Given the description of an element on the screen output the (x, y) to click on. 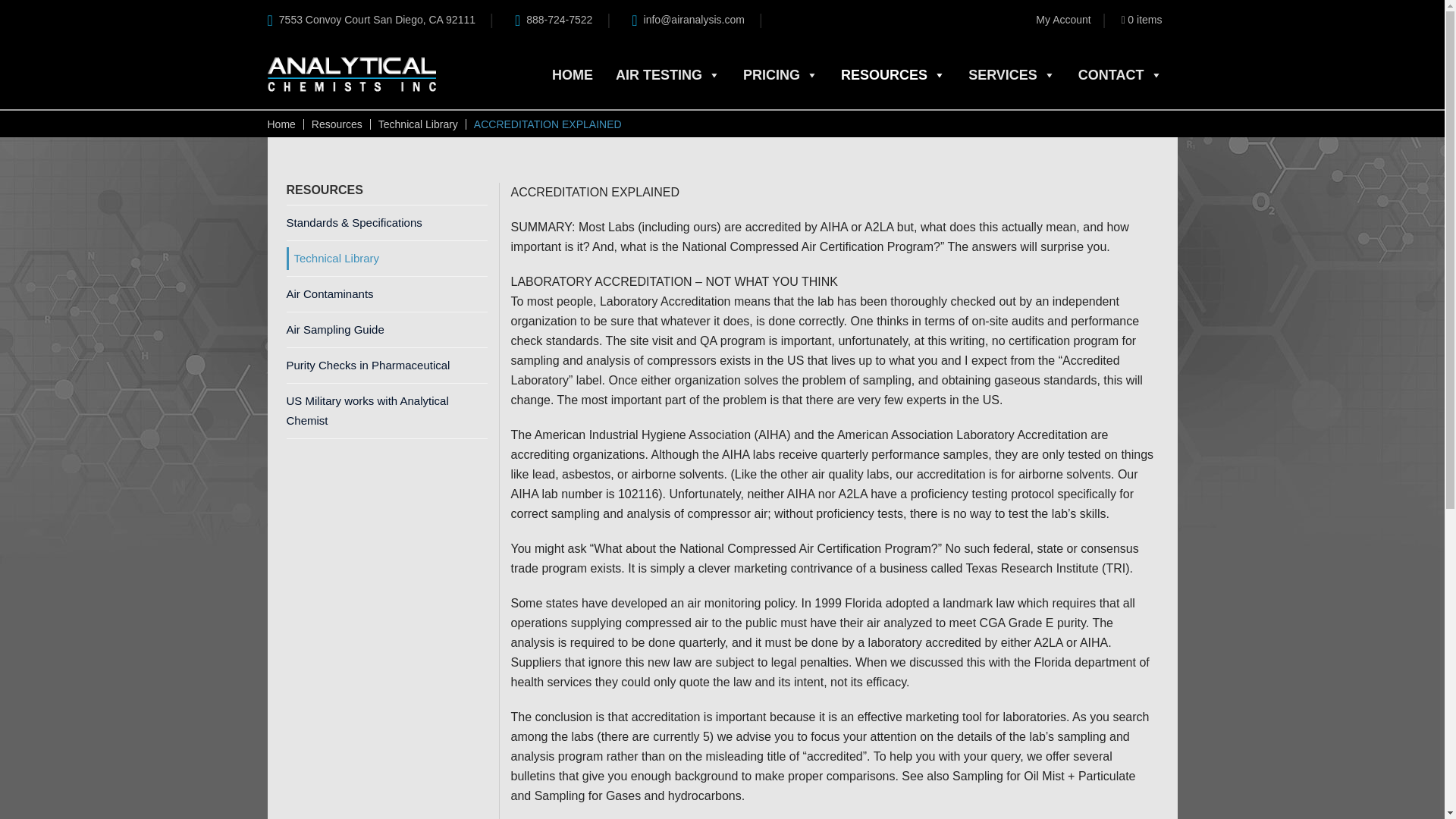
HOME (571, 75)
Technical Library (418, 123)
Start shopping (1141, 19)
Home (280, 123)
0 items (1141, 19)
PRICING (780, 75)
My Account (1062, 19)
Resources (336, 123)
AIR TESTING (668, 75)
RESOURCES (892, 75)
